Given the description of an element on the screen output the (x, y) to click on. 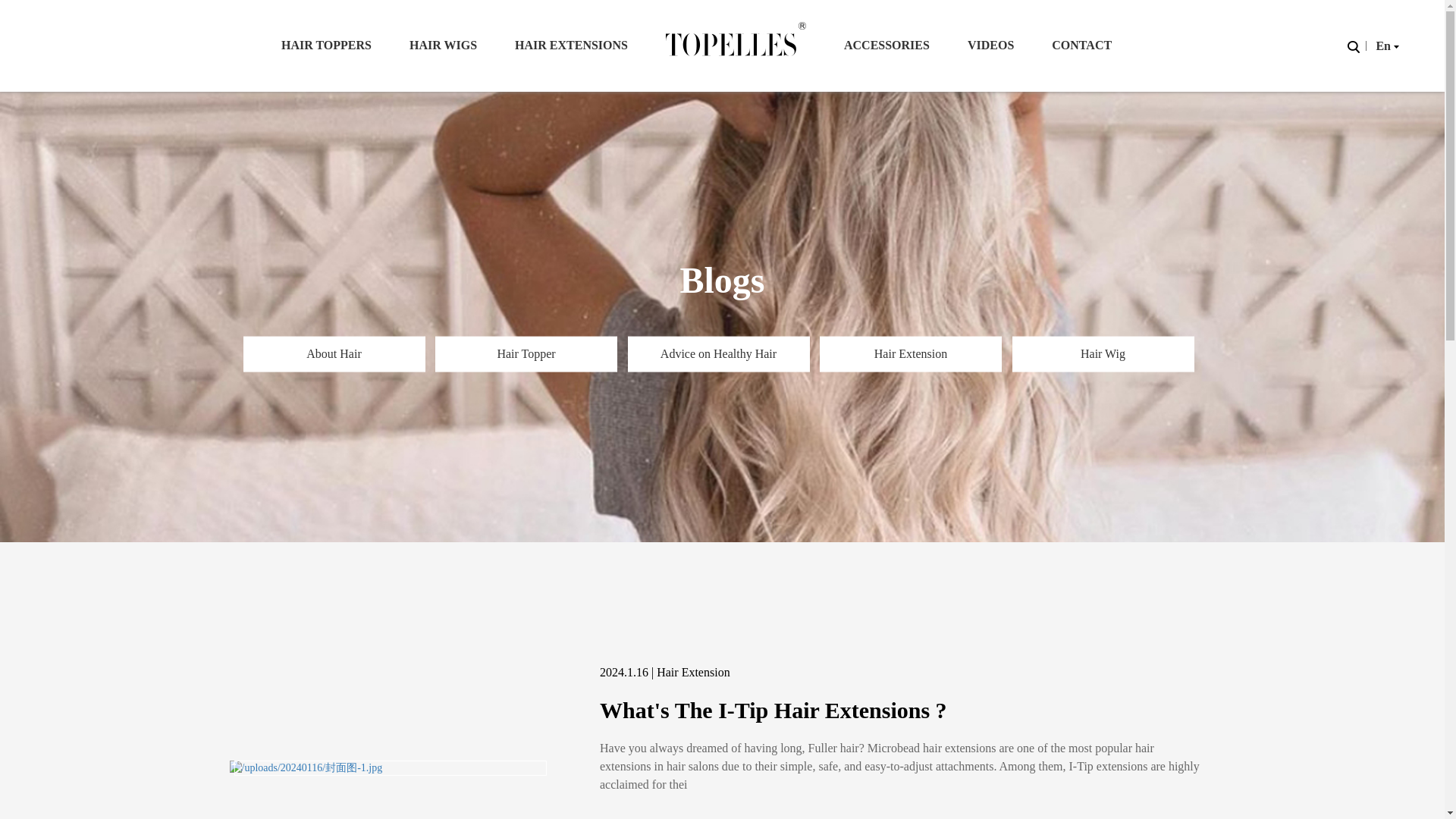
HAIR TOPPERS (326, 45)
  En (1384, 46)
HAIR WIGS (443, 45)
HAIR EXTENSIONS (571, 45)
ACCESSORIES (887, 45)
VIDEOS (990, 45)
CONTACT (1081, 45)
